Given the description of an element on the screen output the (x, y) to click on. 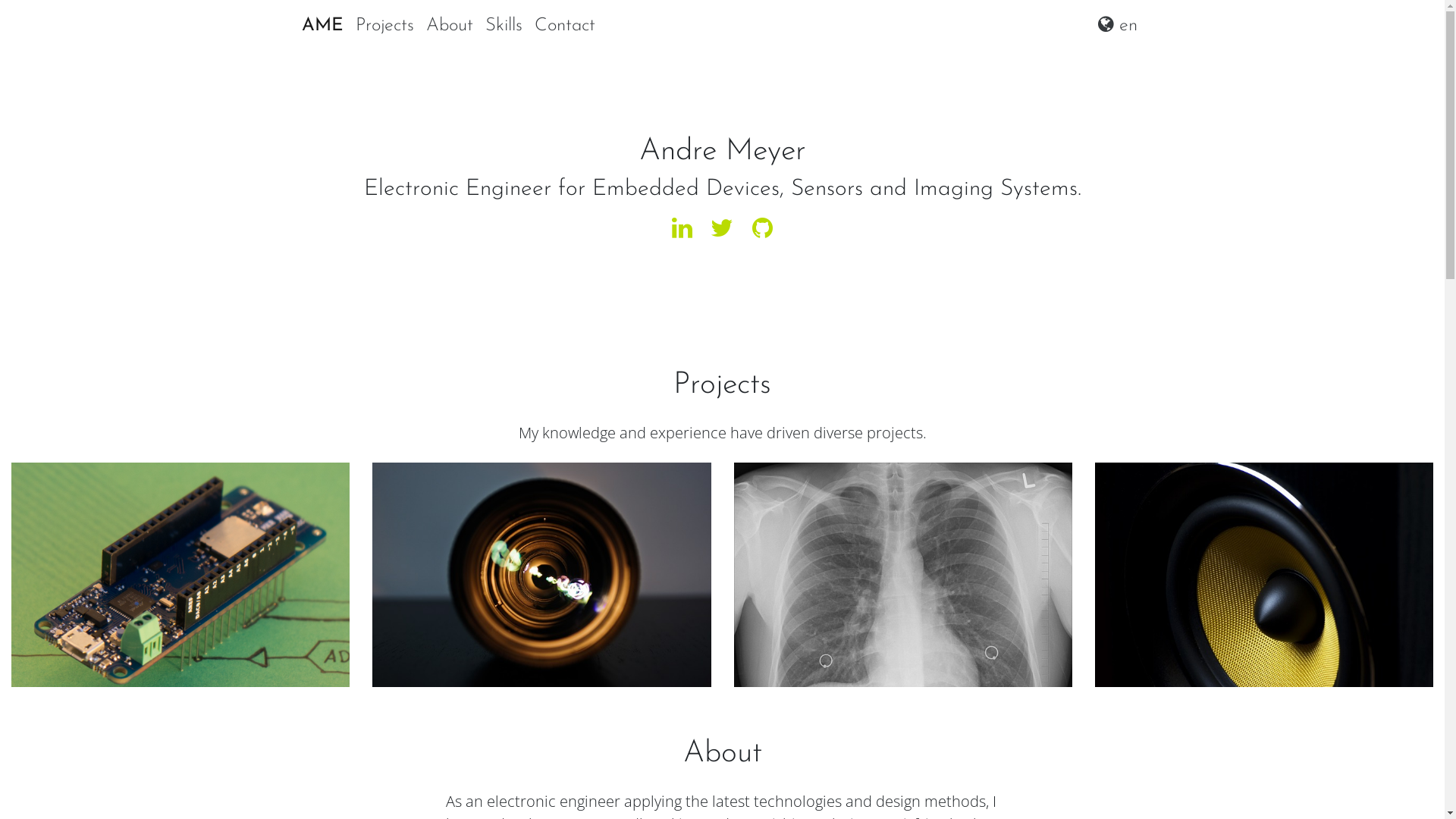
AME Element type: text (322, 25)
About Element type: text (449, 25)
en Element type: text (1117, 25)
Projects Element type: text (383, 25)
Skills Element type: text (503, 25)
Contact Element type: text (563, 25)
